Given the description of an element on the screen output the (x, y) to click on. 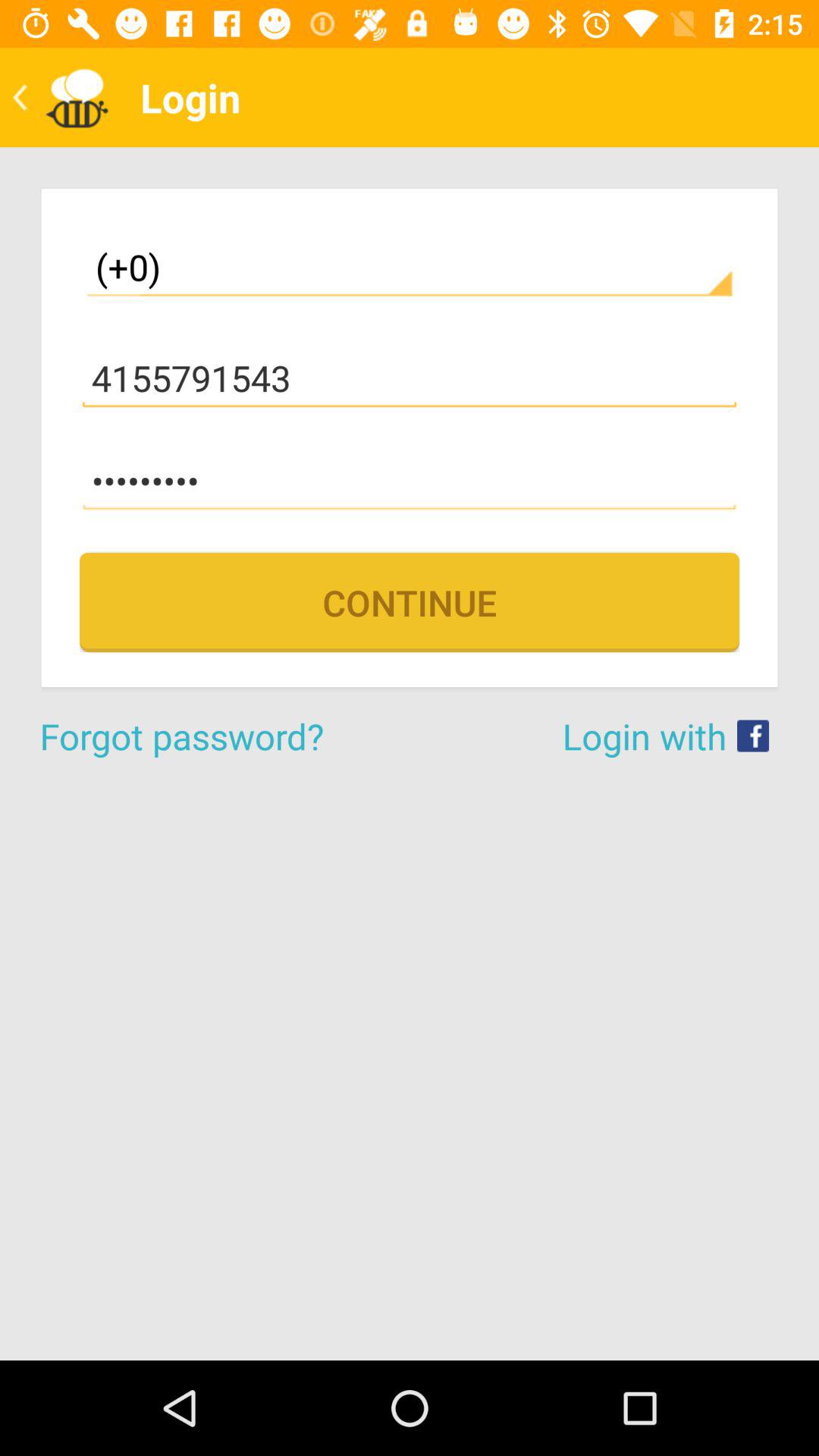
open continue item (409, 602)
